Given the description of an element on the screen output the (x, y) to click on. 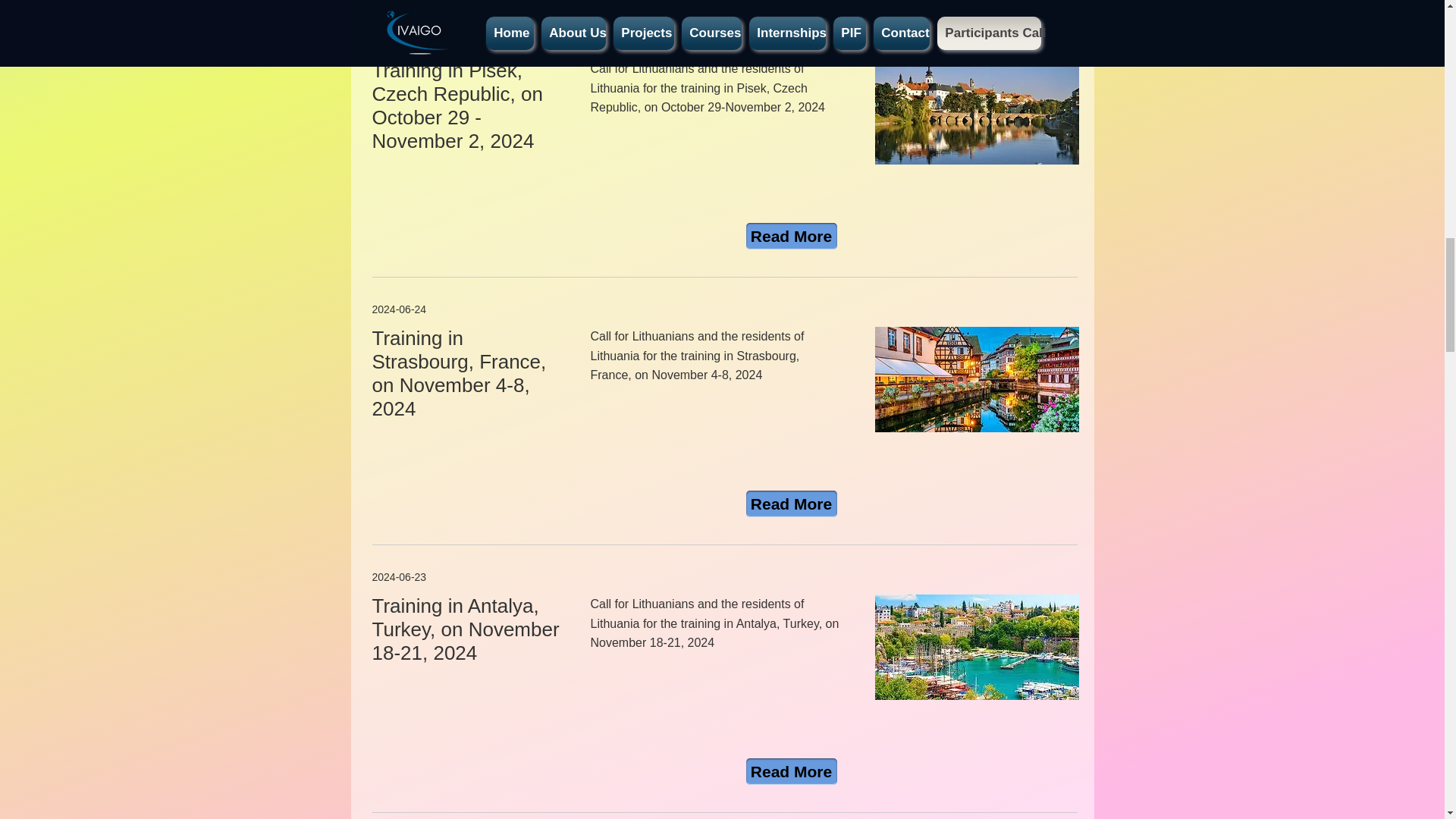
antalya.jpeg (976, 647)
Read More (791, 235)
strasbourg.jpg (976, 379)
Read More (791, 771)
pisek2.jpg (976, 111)
Read More (791, 503)
